Given the description of an element on the screen output the (x, y) to click on. 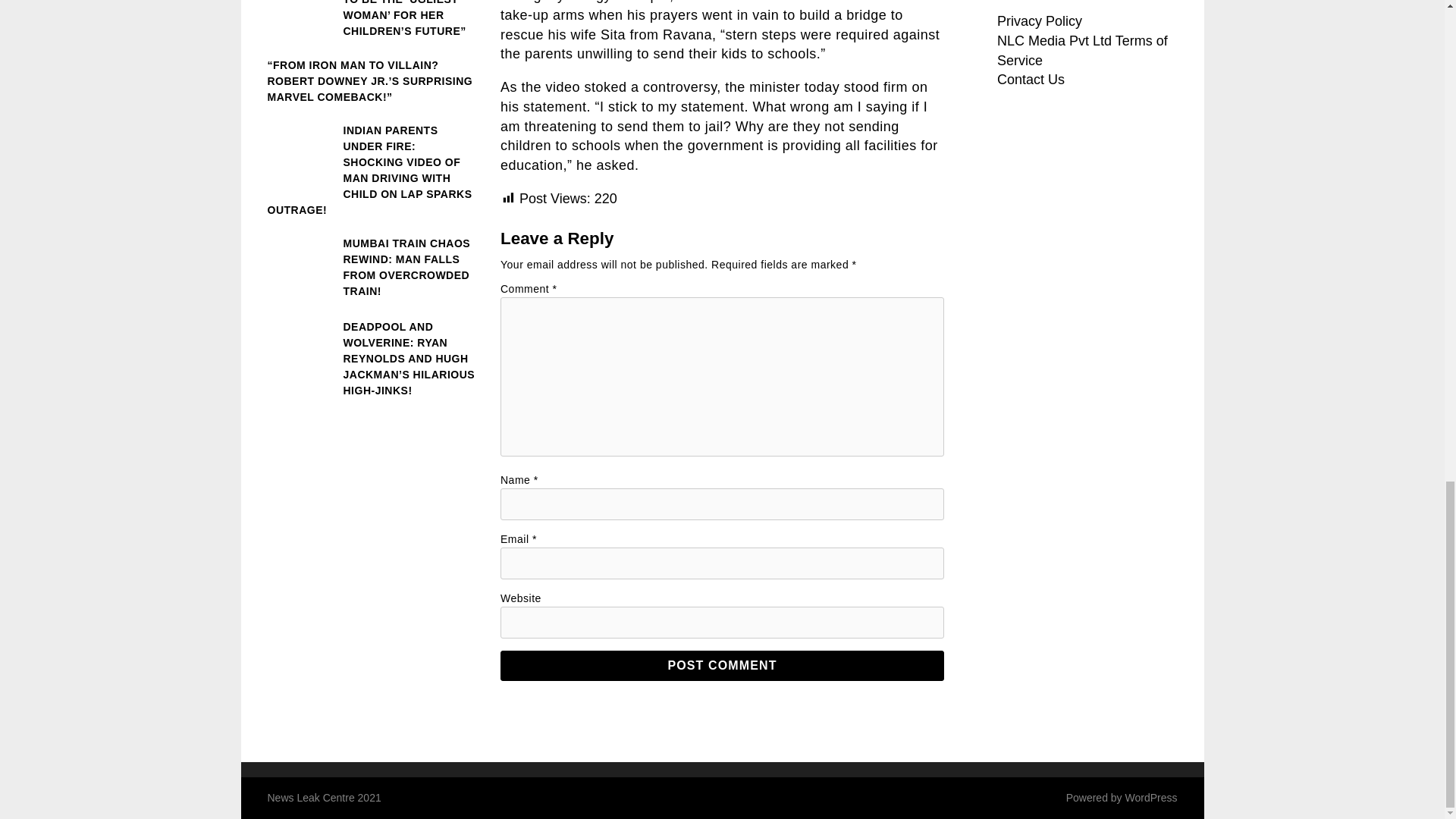
MUMBAI TRAIN CHAOS REWIND: MAN FALLS FROM OVERCROWDED TRAIN! (371, 267)
WordPress (1151, 797)
NLC Media Pvt Ltd Terms of Service (1082, 50)
Contact Us (1030, 79)
Privacy Policy (1039, 20)
Post Comment (721, 665)
Post Comment (721, 665)
